Given the description of an element on the screen output the (x, y) to click on. 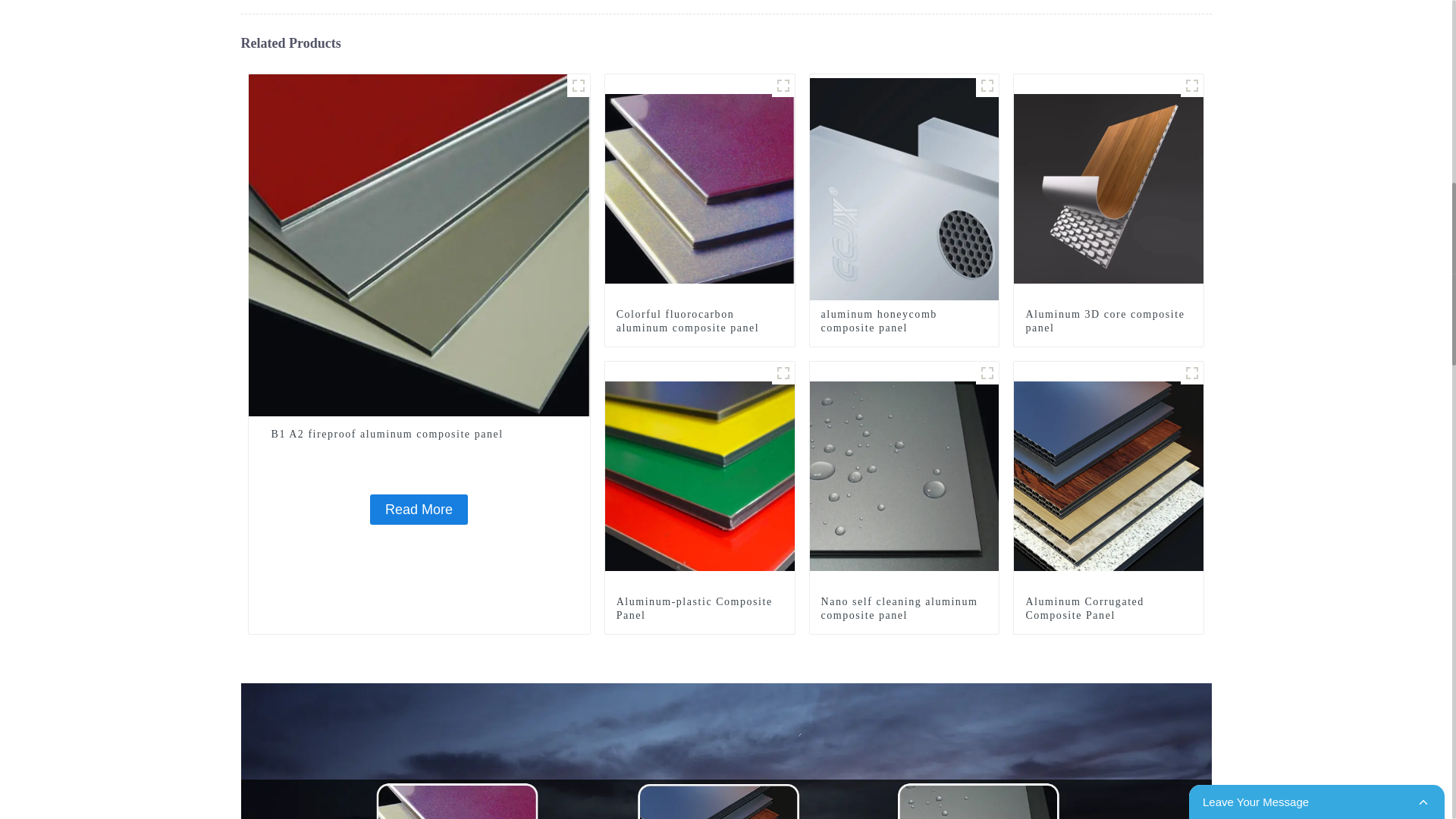
aluminum honeycomb composite panel -1 (986, 85)
aluminum honeycomb composite panel (903, 187)
Colorful fluorocarbon aluminum composite panel (699, 187)
Colorful fluorocarbon aluminum composite panel (699, 320)
Colorful fluorocarbon aluminum plastic plate (782, 85)
Aluminum 3D core composite panel (1192, 85)
12 (782, 372)
Colorful fluorocarbon aluminum composite panel (699, 320)
aluminum honeycomb composite panel (904, 320)
B1 A2 fireproof aluminum composite panel (418, 509)
